Given the description of an element on the screen output the (x, y) to click on. 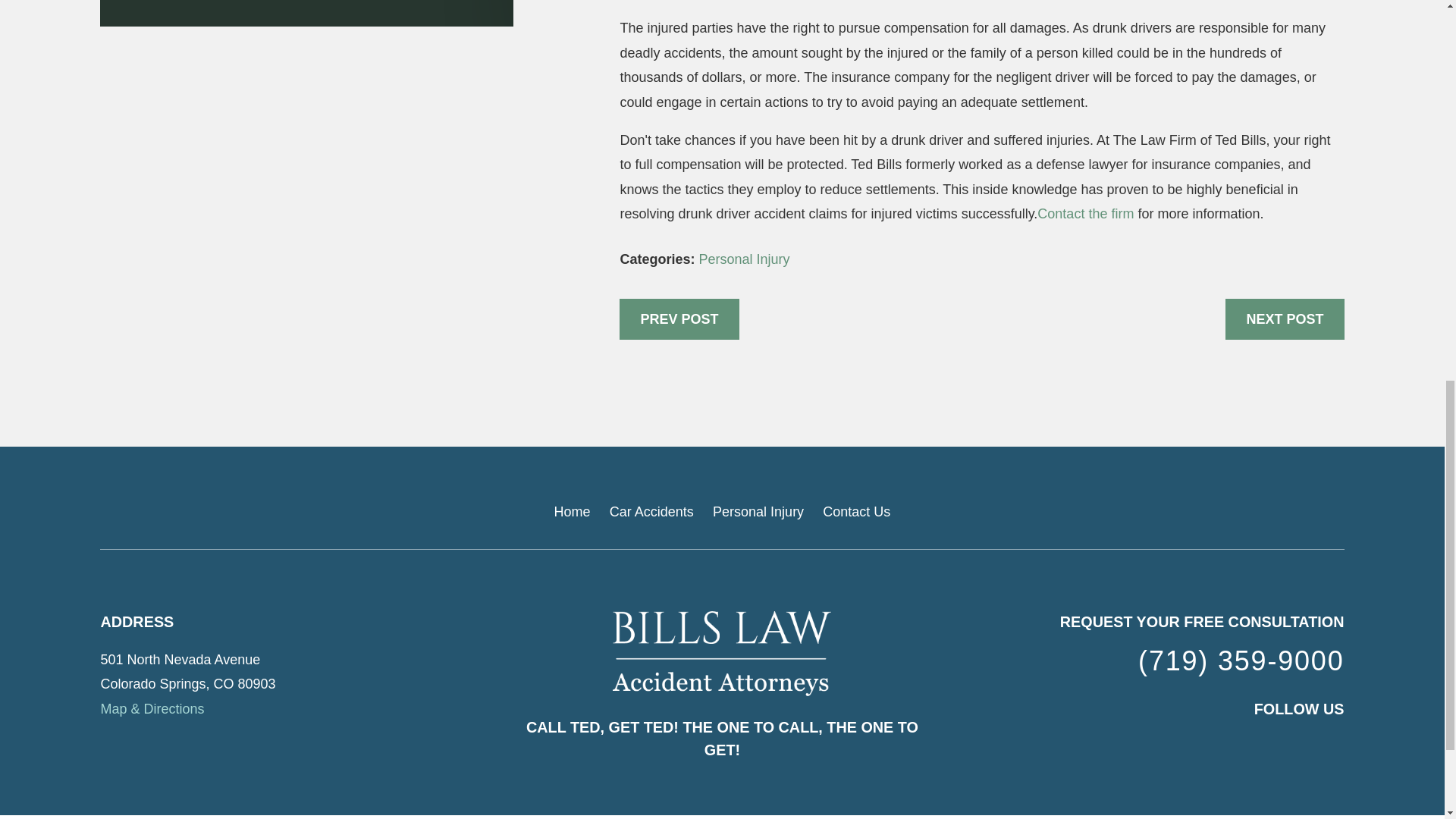
Twitter (1333, 743)
Home (721, 653)
